Given the description of an element on the screen output the (x, y) to click on. 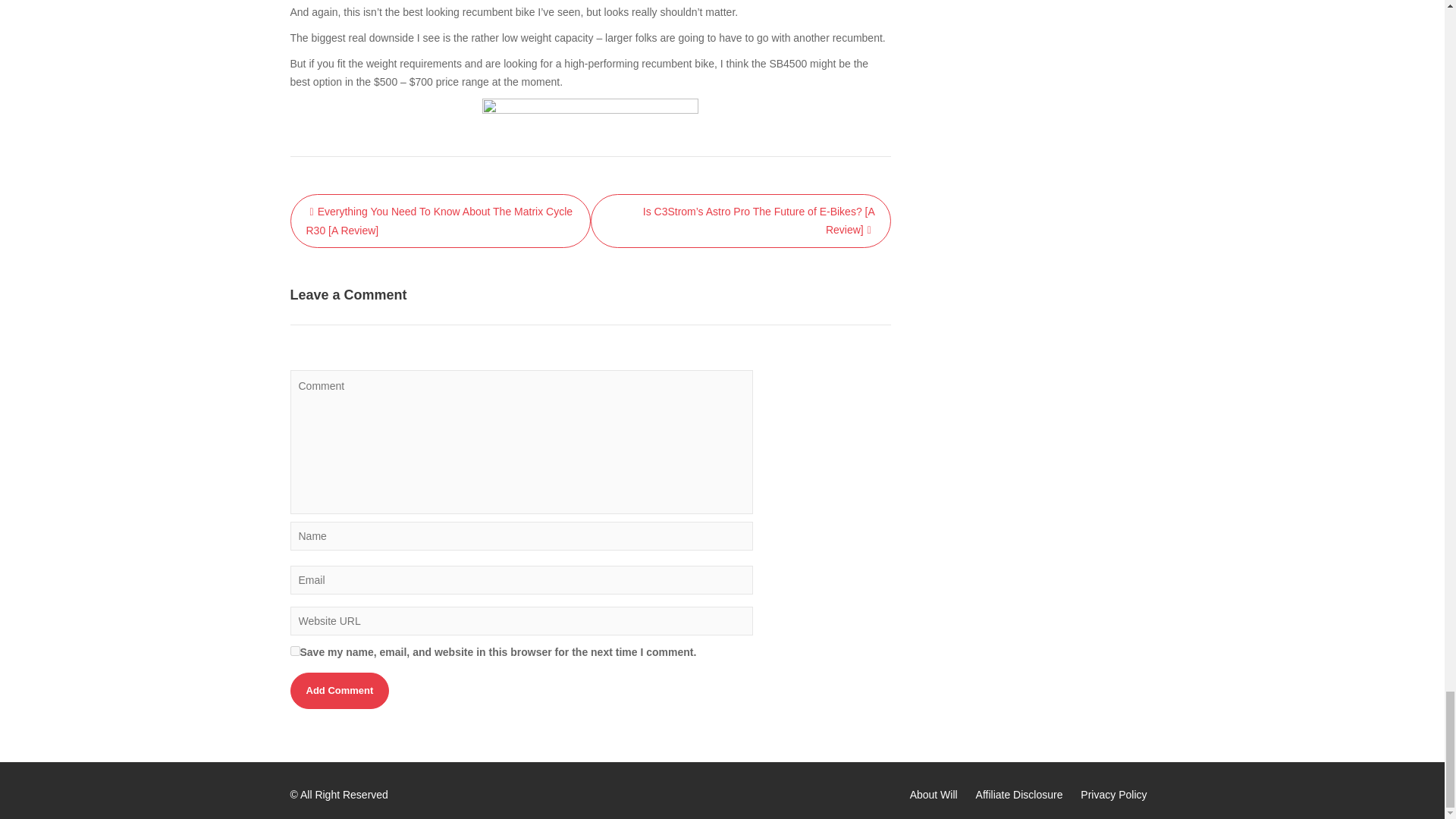
Add Comment (338, 690)
Add Comment (338, 690)
yes (294, 651)
